Given the description of an element on the screen output the (x, y) to click on. 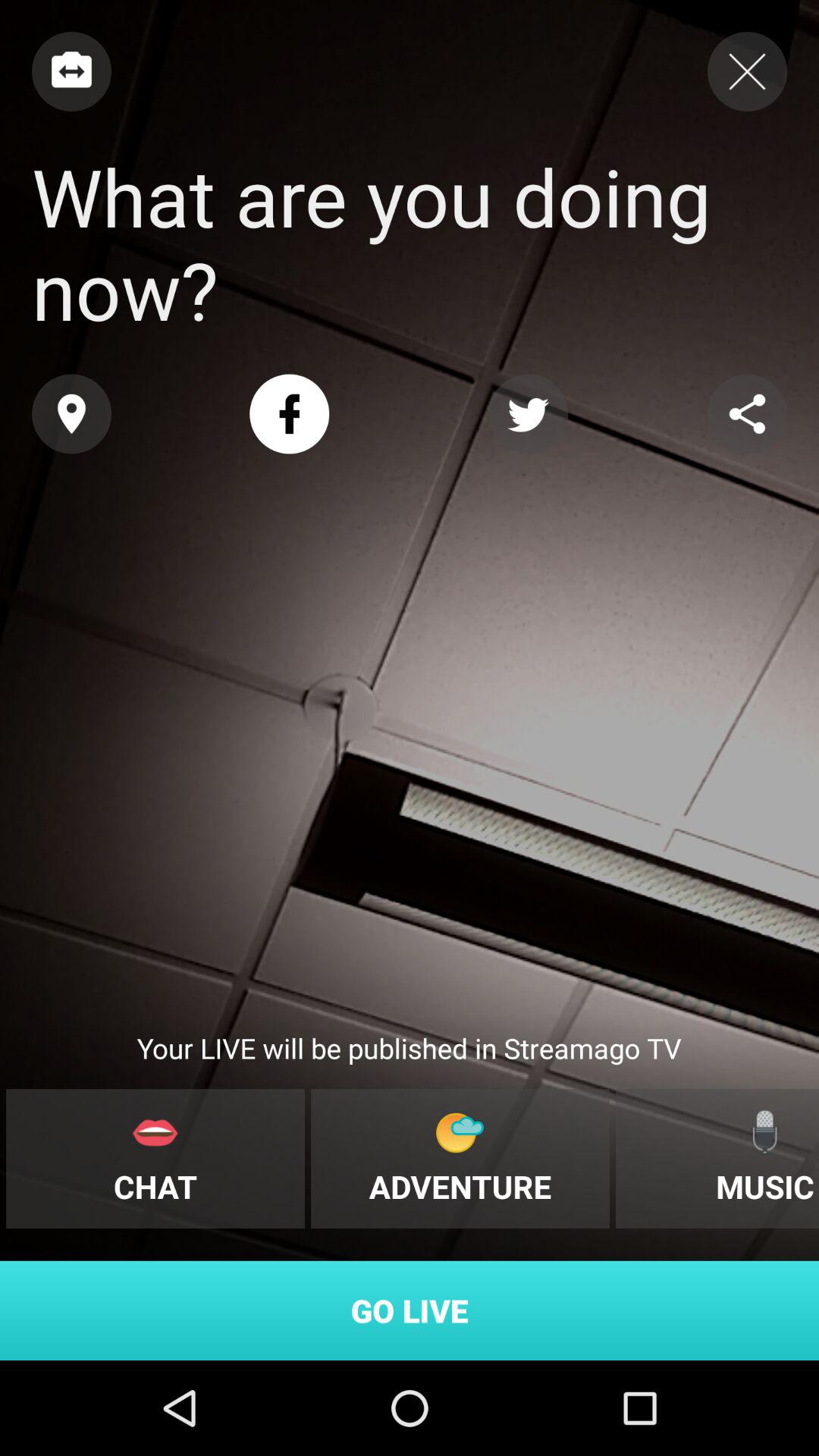
share on facebook (289, 413)
